Given the description of an element on the screen output the (x, y) to click on. 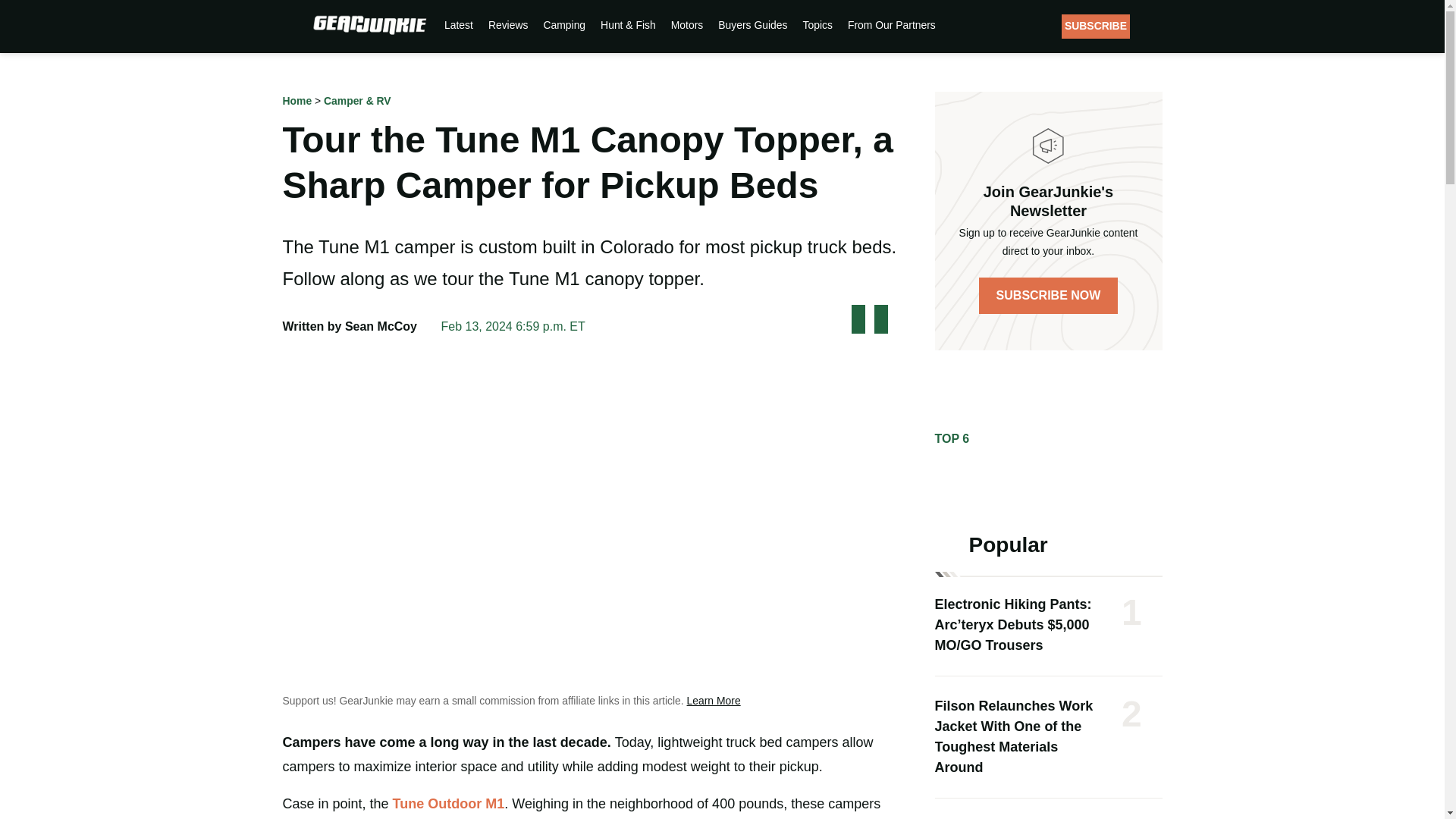
Latest (458, 24)
Topics (817, 24)
Camping (563, 24)
Posts by Sean McCoy (380, 326)
SUBSCRIBE (1095, 26)
Search (1154, 26)
Buyers Guides (752, 24)
Motors (686, 24)
Reviews (507, 24)
